Given the description of an element on the screen output the (x, y) to click on. 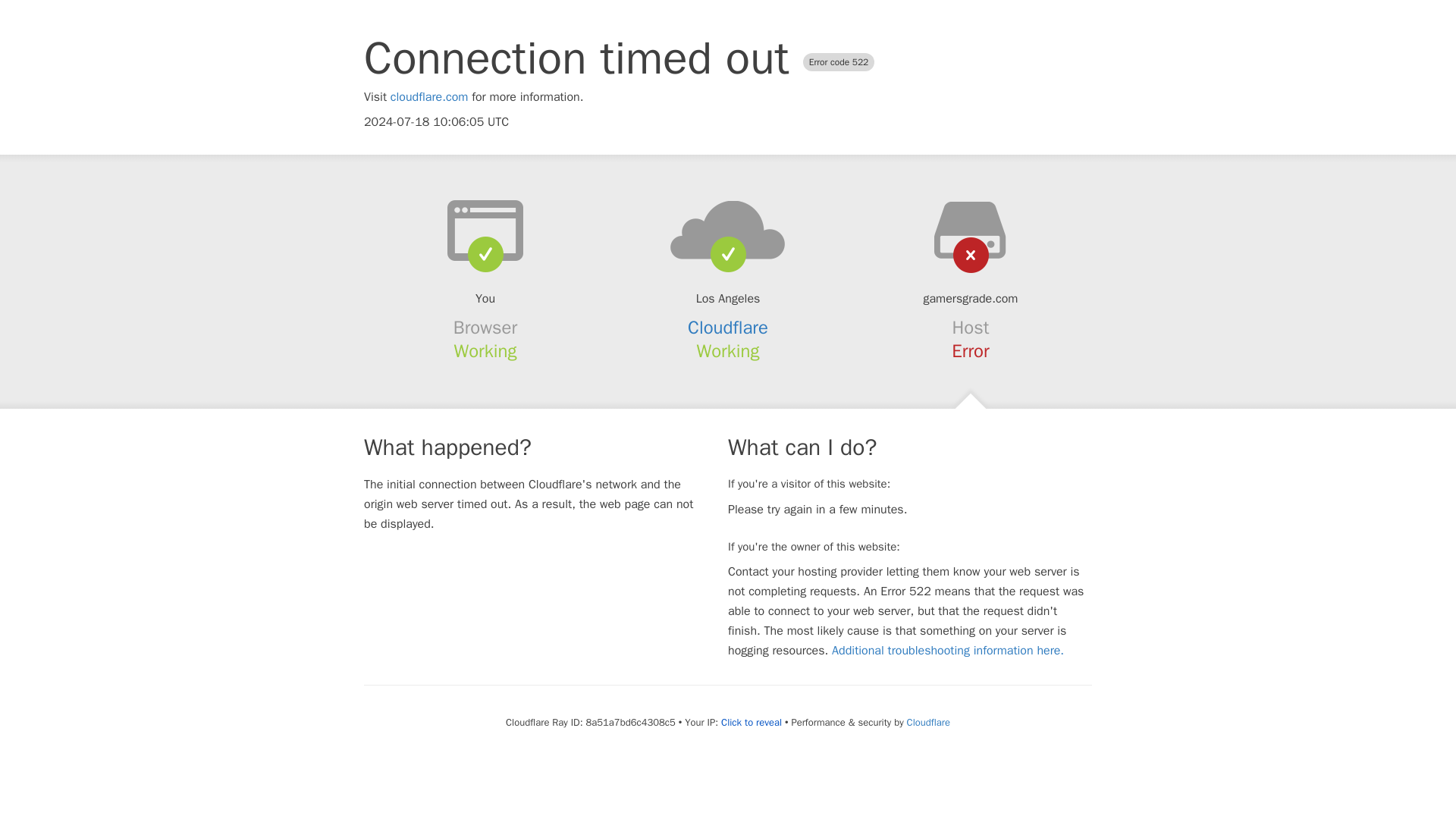
Click to reveal (750, 722)
Cloudflare (727, 327)
cloudflare.com (429, 96)
Cloudflare (928, 721)
Additional troubleshooting information here. (947, 650)
